Given the description of an element on the screen output the (x, y) to click on. 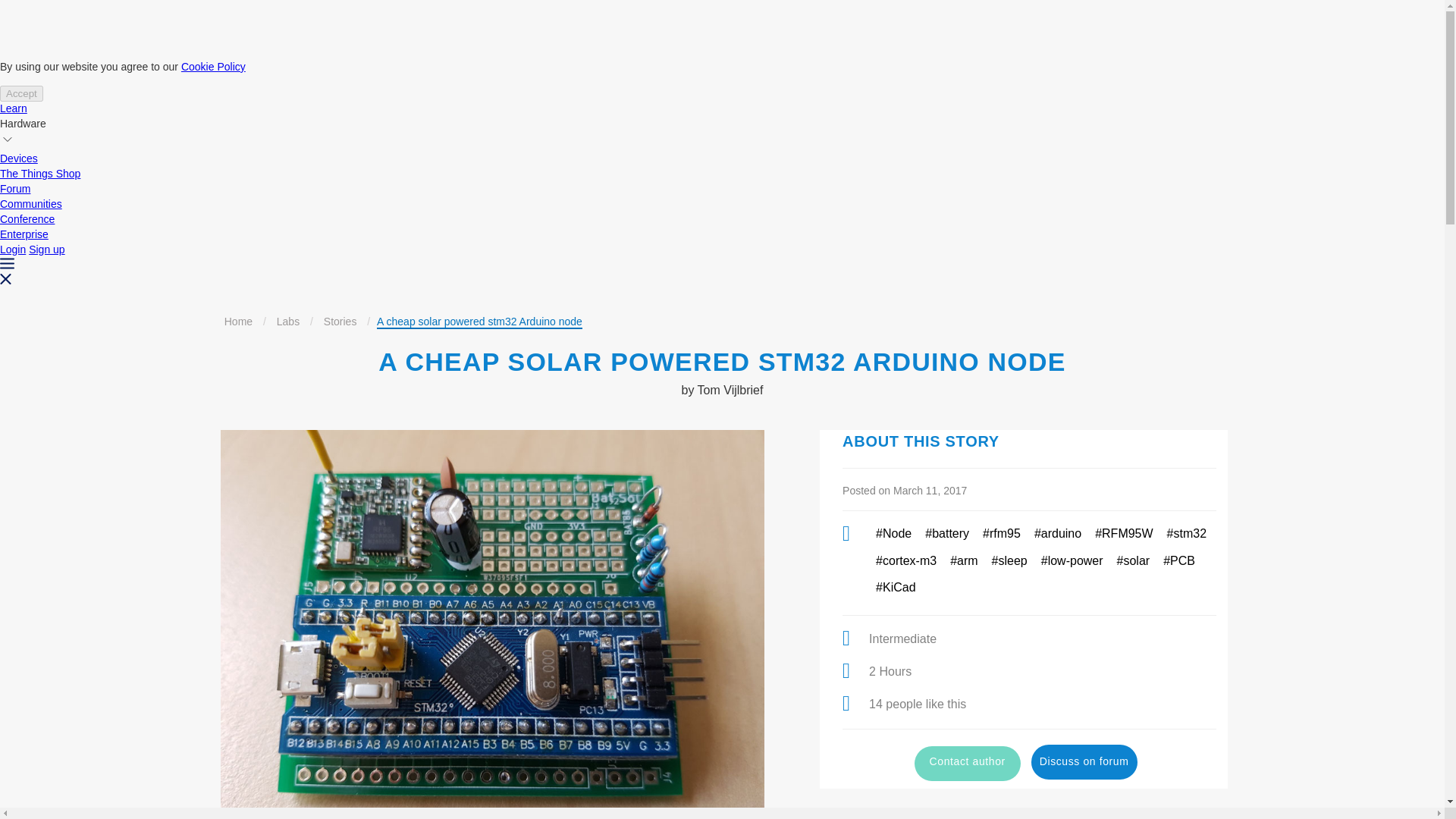
Home (238, 321)
Discuss on forum (1083, 761)
Stories (340, 321)
Labs (287, 321)
Tom Vijlbrief (729, 390)
Contact author (967, 763)
